Given the description of an element on the screen output the (x, y) to click on. 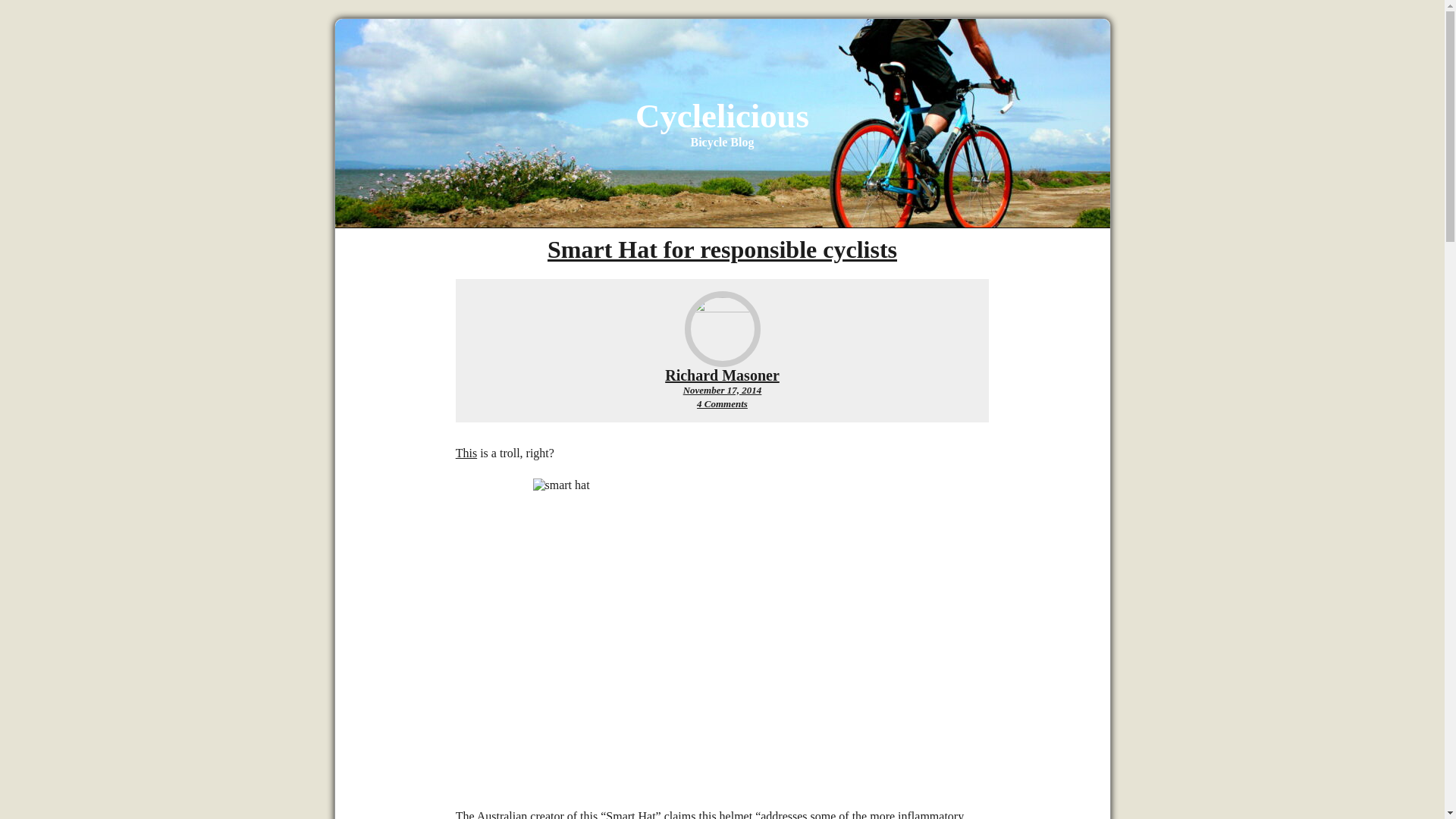
This (722, 403)
12:58 pm (466, 452)
Richard Masoner (721, 389)
Smart Hat for responsible cyclists (721, 375)
November 17, 2014 (721, 248)
Skip to content (721, 389)
View all posts by Richard Masoner (721, 116)
